Given the description of an element on the screen output the (x, y) to click on. 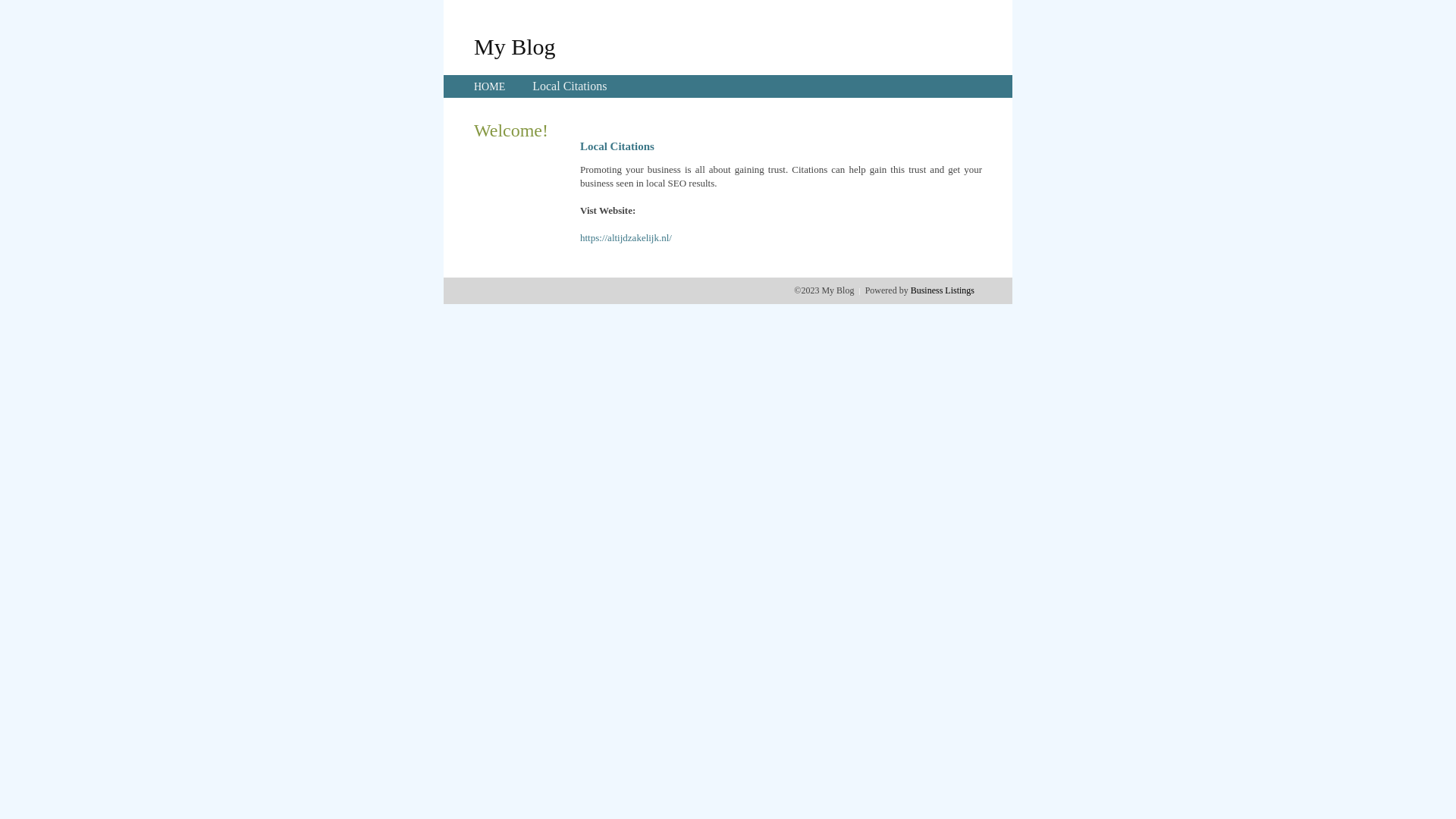
Business Listings Element type: text (942, 290)
https://altijdzakelijk.nl/ Element type: text (625, 237)
My Blog Element type: text (514, 46)
Local Citations Element type: text (569, 85)
HOME Element type: text (489, 86)
